Given the description of an element on the screen output the (x, y) to click on. 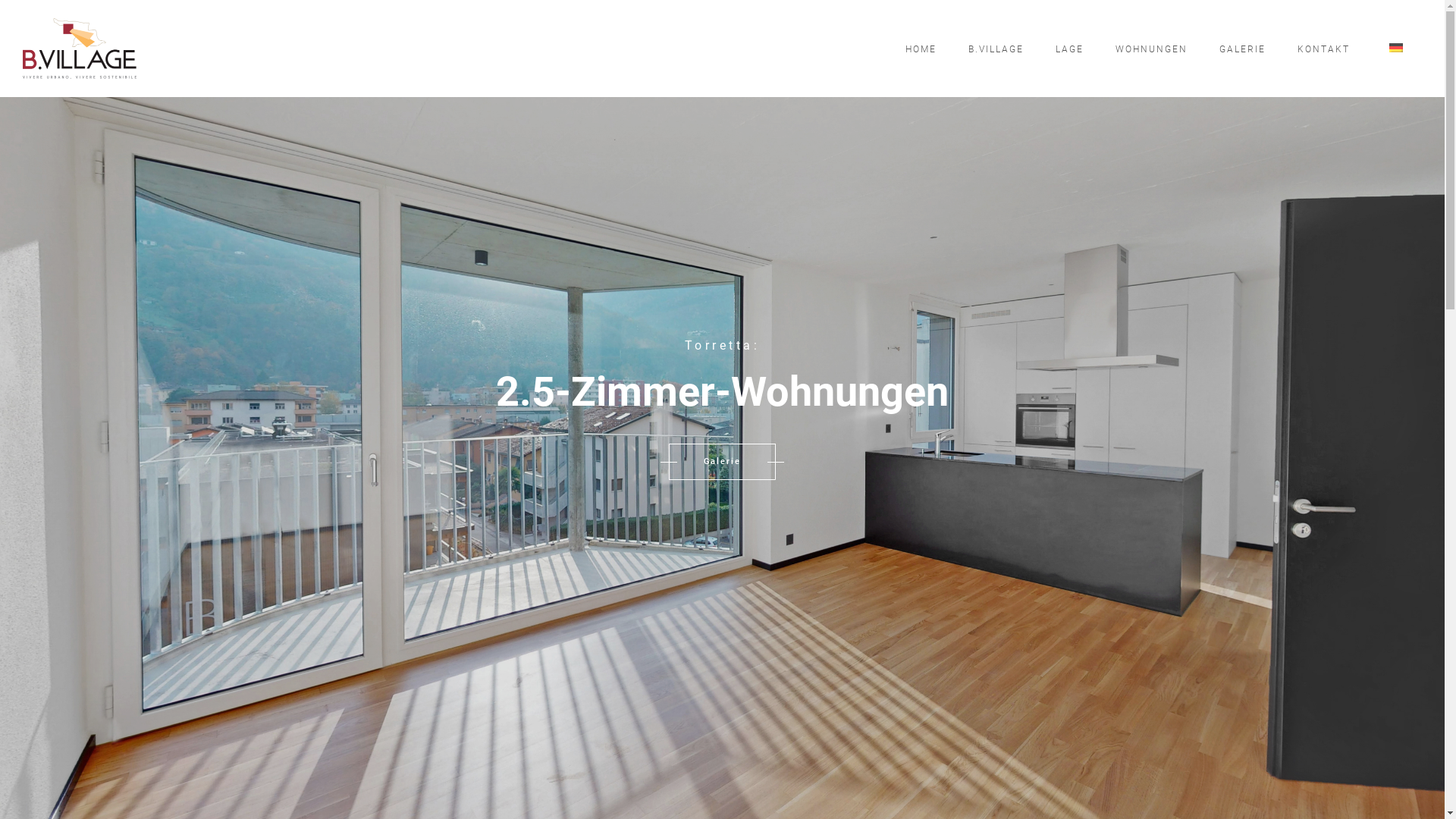
LAGE Element type: text (1069, 48)
KONTAKT Element type: text (1323, 48)
HOME Element type: text (920, 48)
WOHNUNGEN Element type: text (1151, 48)
Deutsch Element type: hover (1395, 47)
Galerie Element type: text (721, 461)
GALERIE Element type: text (1242, 48)
B.VILLAGE Element type: text (996, 48)
